Given the description of an element on the screen output the (x, y) to click on. 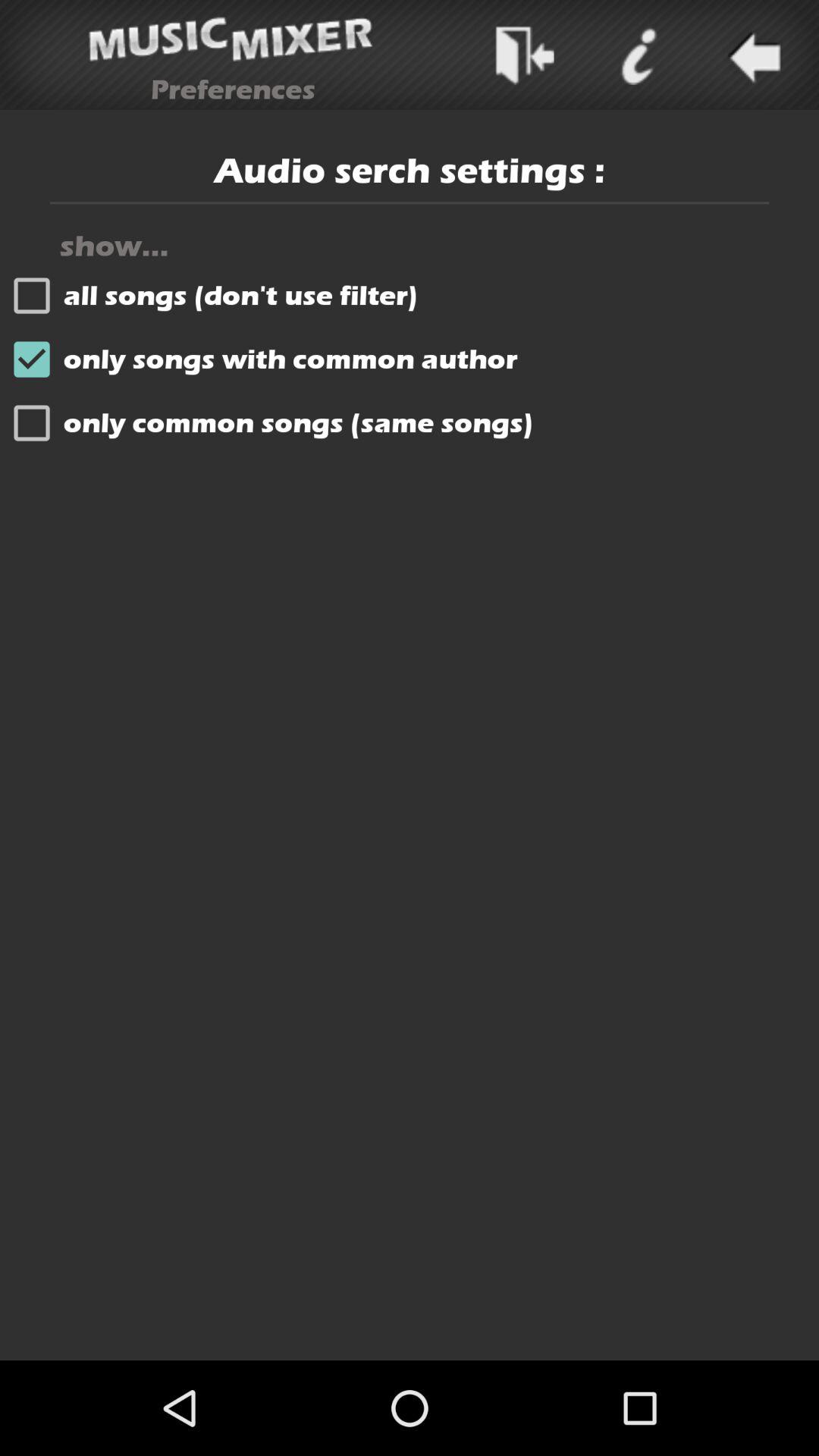
menu page (638, 54)
